Given the description of an element on the screen output the (x, y) to click on. 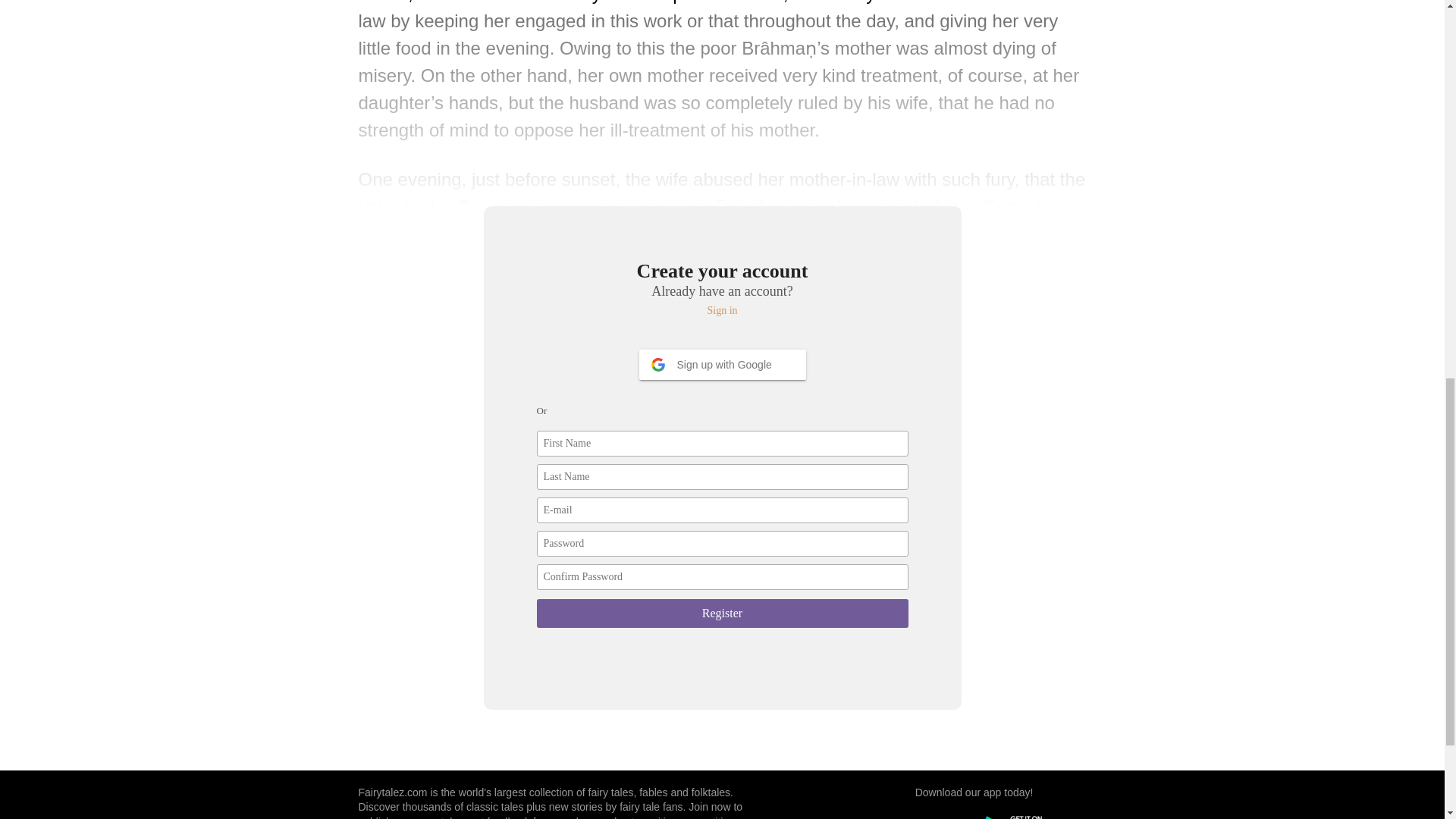
Sign up with Google (722, 364)
Sign in (722, 310)
Fairytalez.com (392, 792)
Register (722, 613)
